Given the description of an element on the screen output the (x, y) to click on. 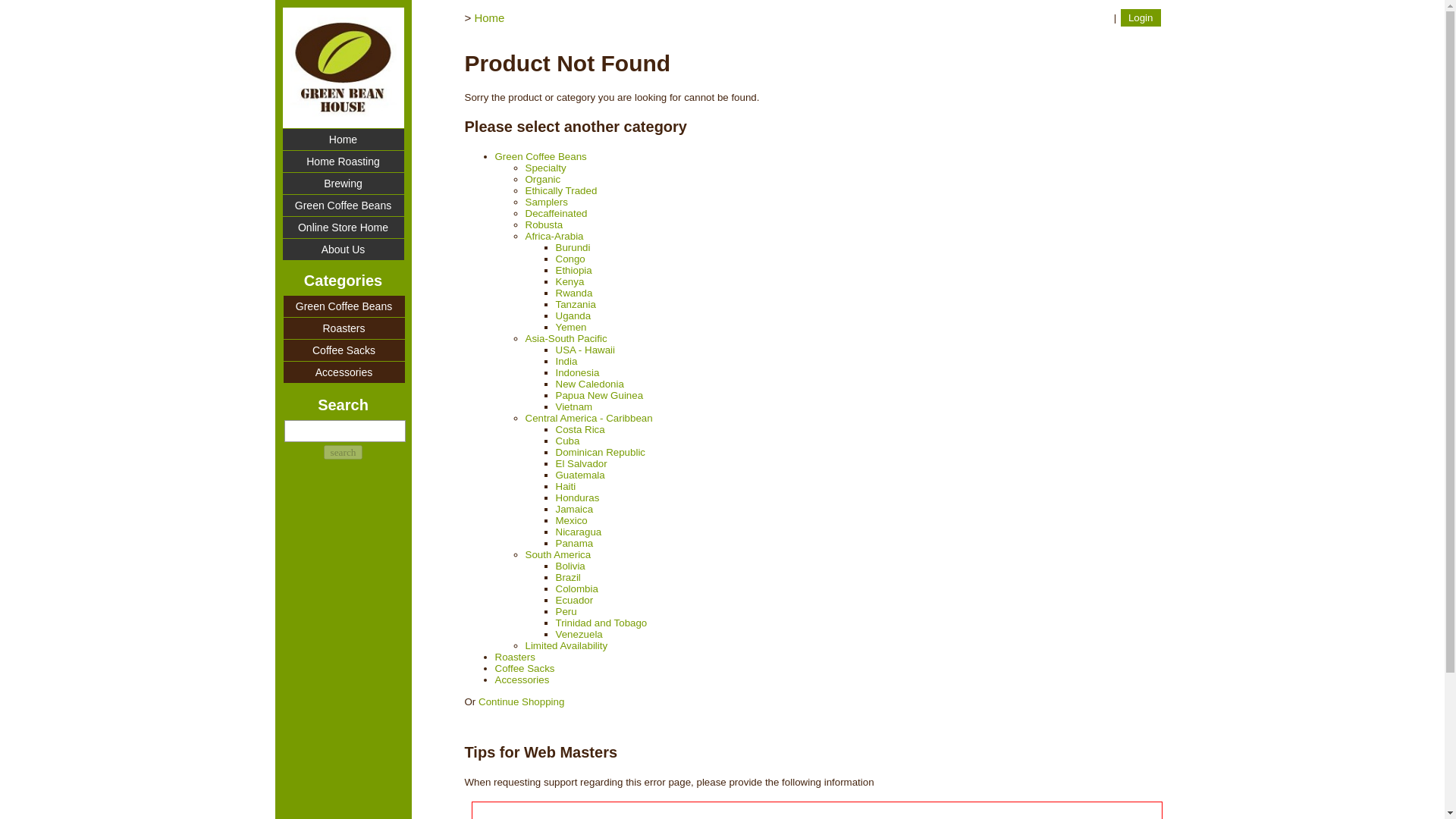
About Us (342, 249)
Online Store Home (342, 227)
Green Coffee Beans (342, 205)
Green Coffee Beans (343, 305)
Brewing (342, 183)
Login (1140, 17)
Home Roasting (342, 160)
Home (342, 138)
